Given the description of an element on the screen output the (x, y) to click on. 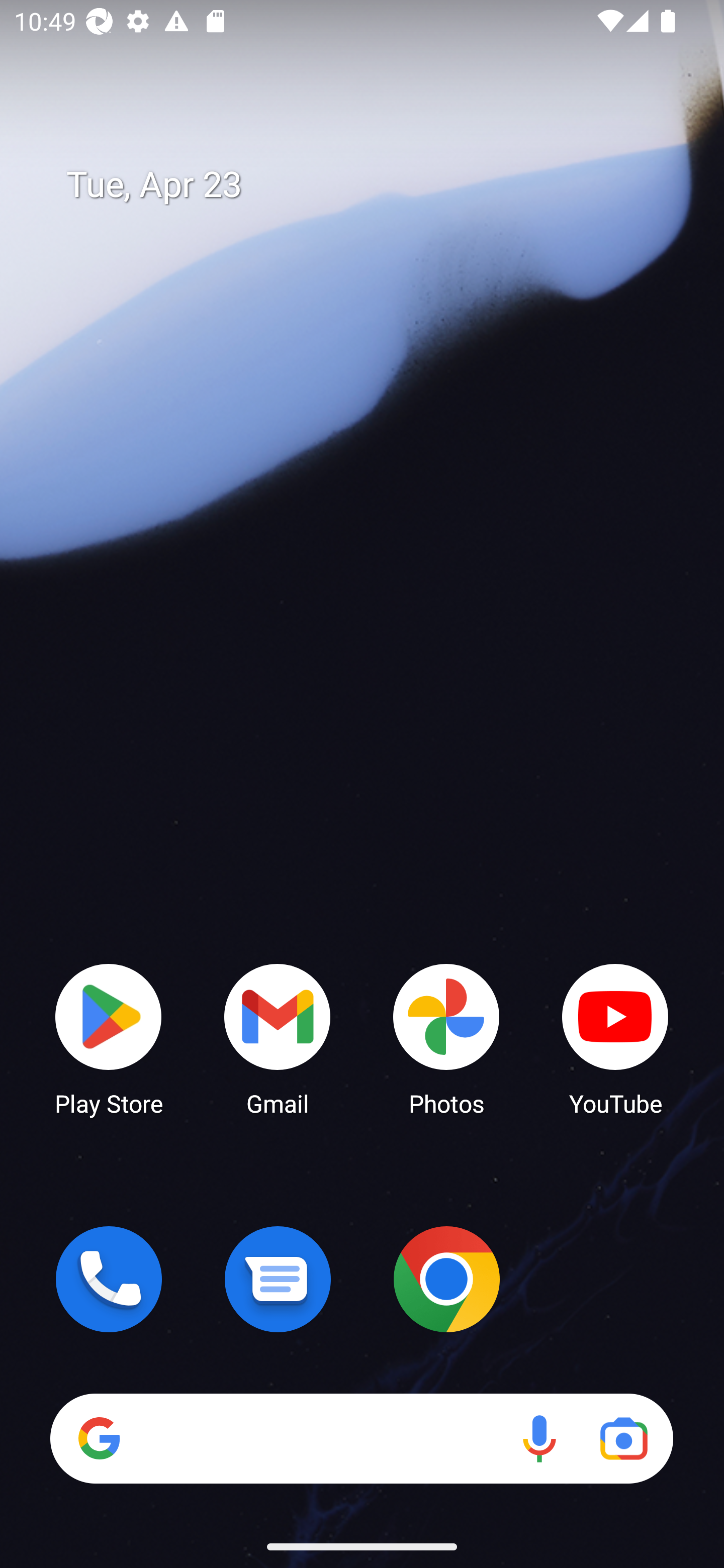
Tue, Apr 23 (375, 184)
Play Store (108, 1038)
Gmail (277, 1038)
Photos (445, 1038)
YouTube (615, 1038)
Phone (108, 1279)
Messages (277, 1279)
Chrome (446, 1279)
Search Voice search Google Lens (361, 1438)
Voice search (539, 1438)
Google Lens (623, 1438)
